Given the description of an element on the screen output the (x, y) to click on. 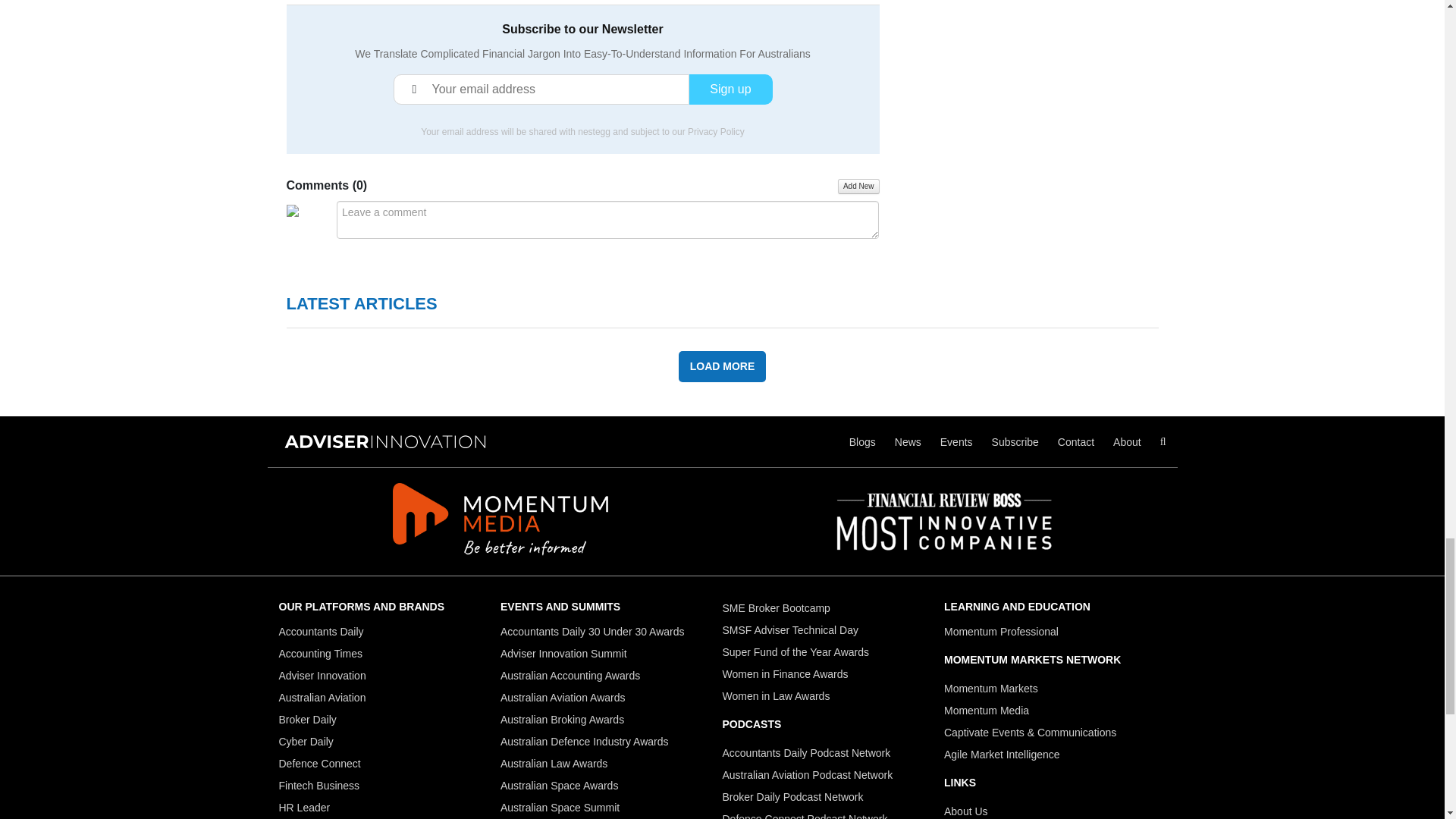
Add New (858, 186)
